Given the description of an element on the screen output the (x, y) to click on. 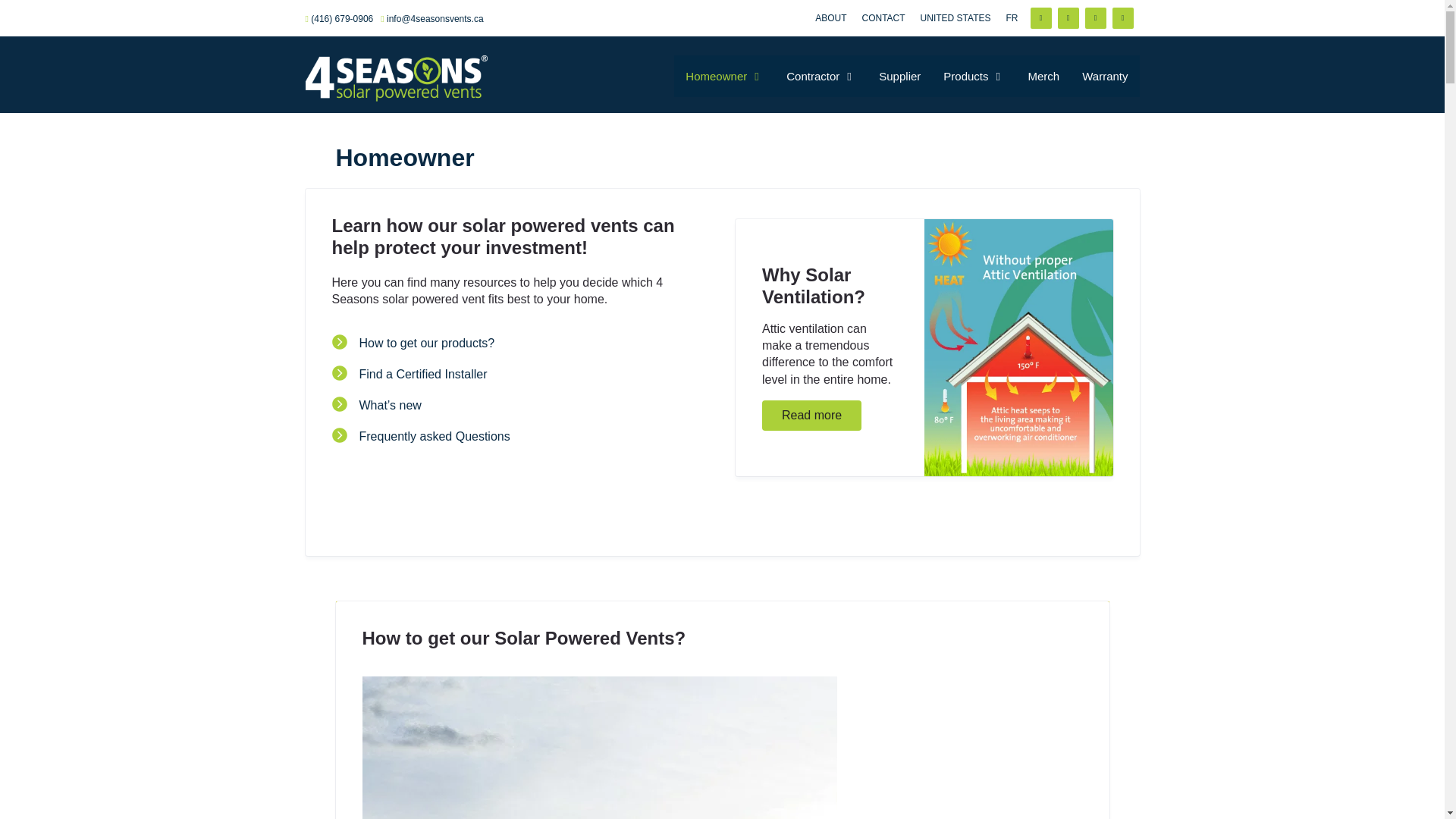
YouTube Element type: hover (1121, 17)
Merch Element type: text (1043, 76)
Instagram Element type: hover (1040, 17)
FR Element type: text (1011, 18)
Frequently asked Questions Element type: text (434, 435)
Facebook Element type: hover (1094, 17)
Warranty Element type: text (1104, 76)
Supplier Element type: text (899, 76)
CONTACT Element type: text (882, 17)
Products Element type: text (973, 76)
UNITED STATES Element type: text (955, 17)
Find a Certified Installer Element type: text (423, 373)
How to get our products? Element type: text (427, 342)
Homeowner Element type: text (724, 76)
Contractor Element type: text (821, 76)
info@4seasonsvents.ca Element type: text (434, 18)
Twitter Element type: hover (1067, 17)
ABOUT Element type: text (830, 17)
Read more Element type: text (811, 415)
